Given the description of an element on the screen output the (x, y) to click on. 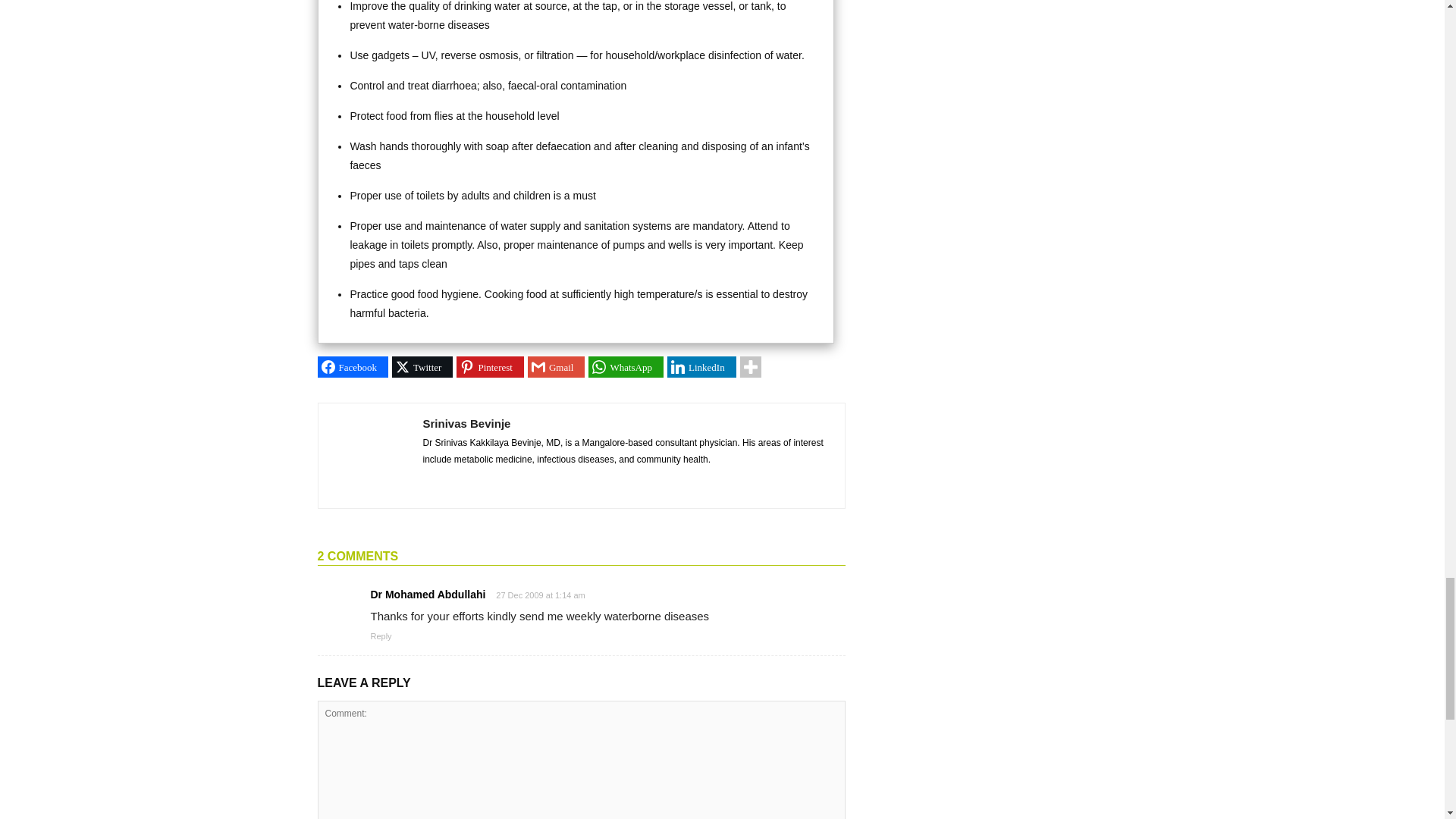
Share on Facebook (352, 366)
Share on Pinterest (490, 366)
Share on Twitter (421, 366)
